Given the description of an element on the screen output the (x, y) to click on. 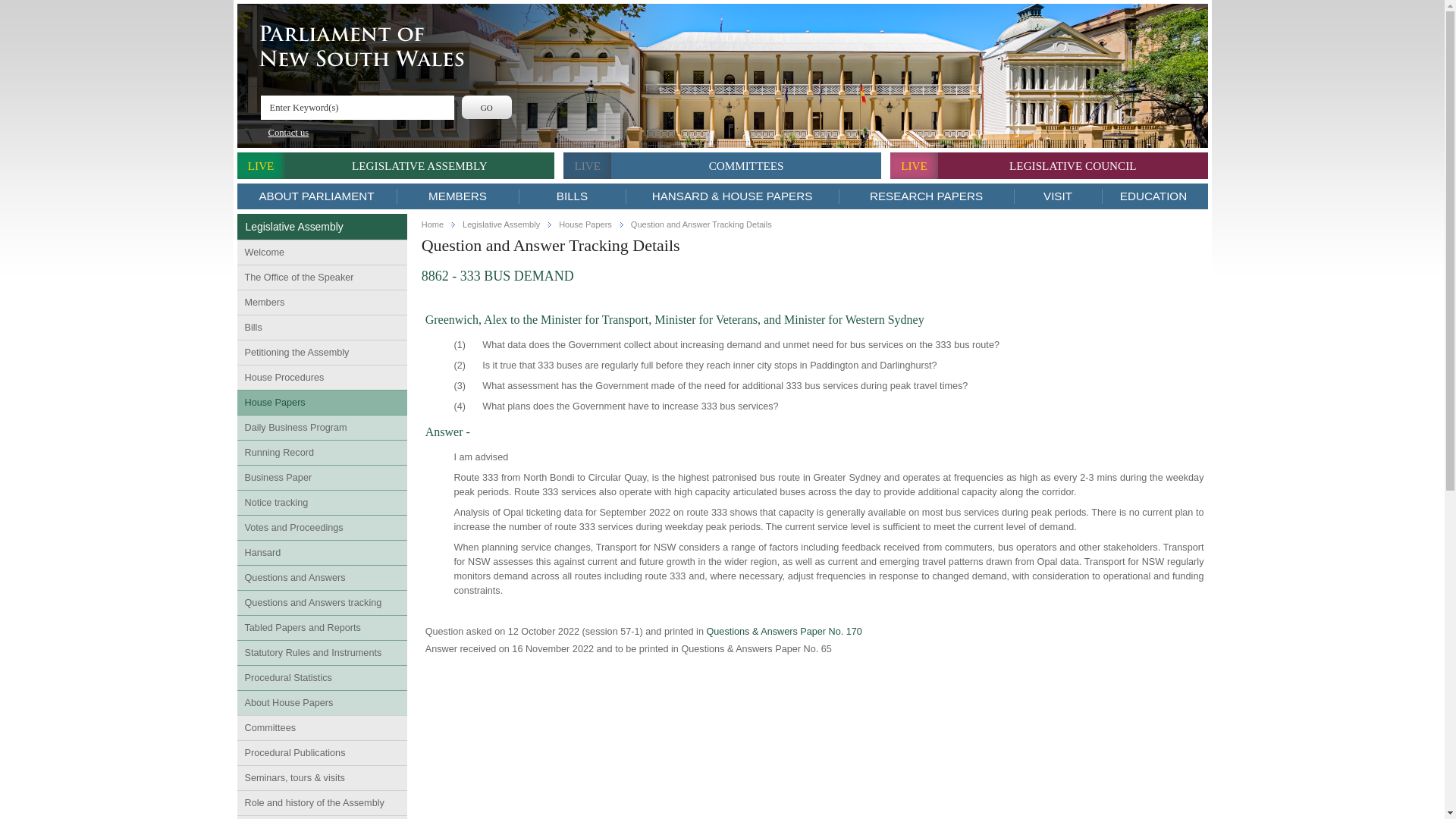
LEGISLATIVE ASSEMBLY (419, 165)
LIVE (259, 165)
Go (486, 106)
Contact us (284, 132)
